Given the description of an element on the screen output the (x, y) to click on. 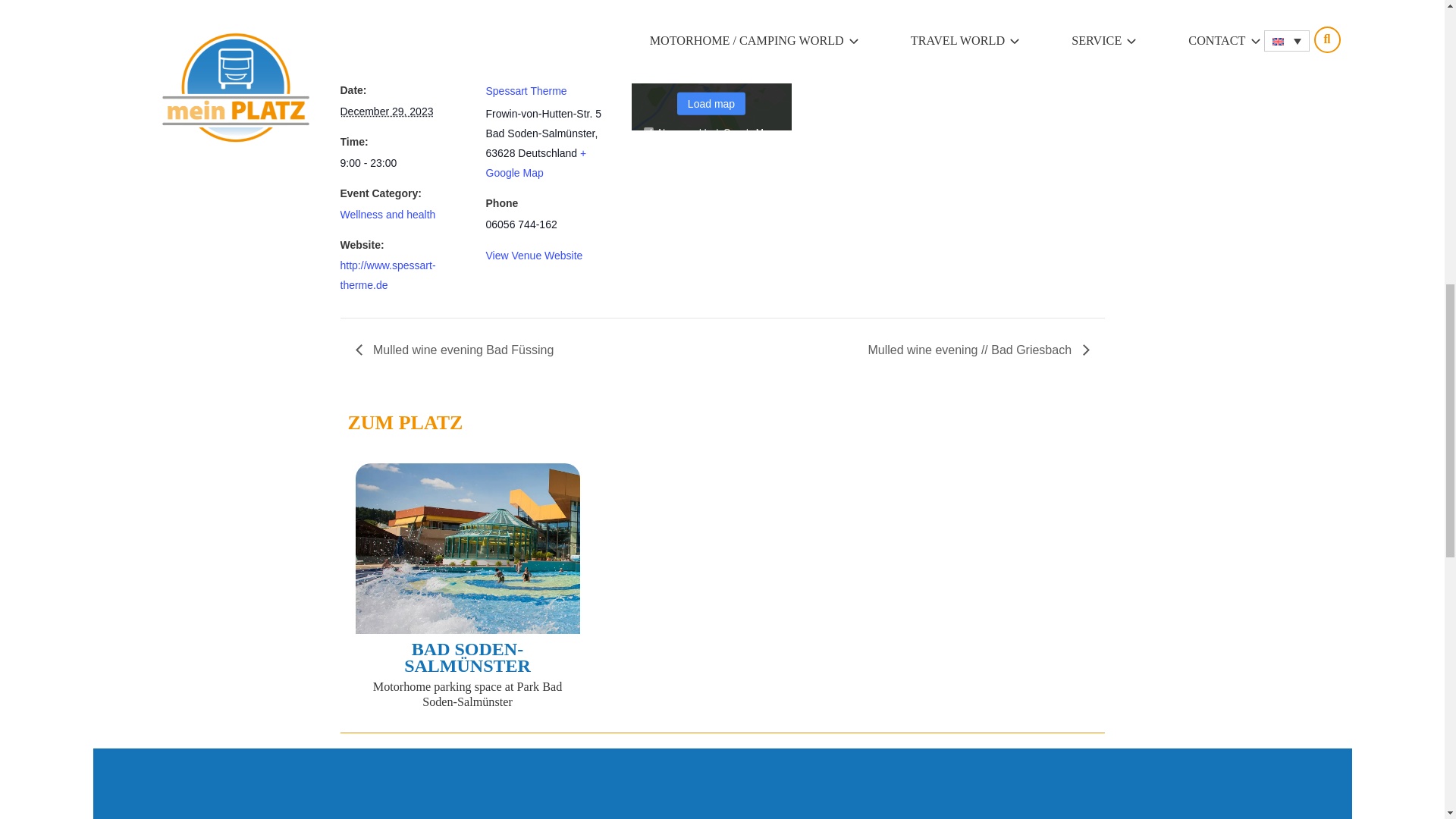
Click to view a Google Map (535, 163)
2023-12-29 (385, 111)
2023-12-29 (403, 162)
1 (648, 132)
